Given the description of an element on the screen output the (x, y) to click on. 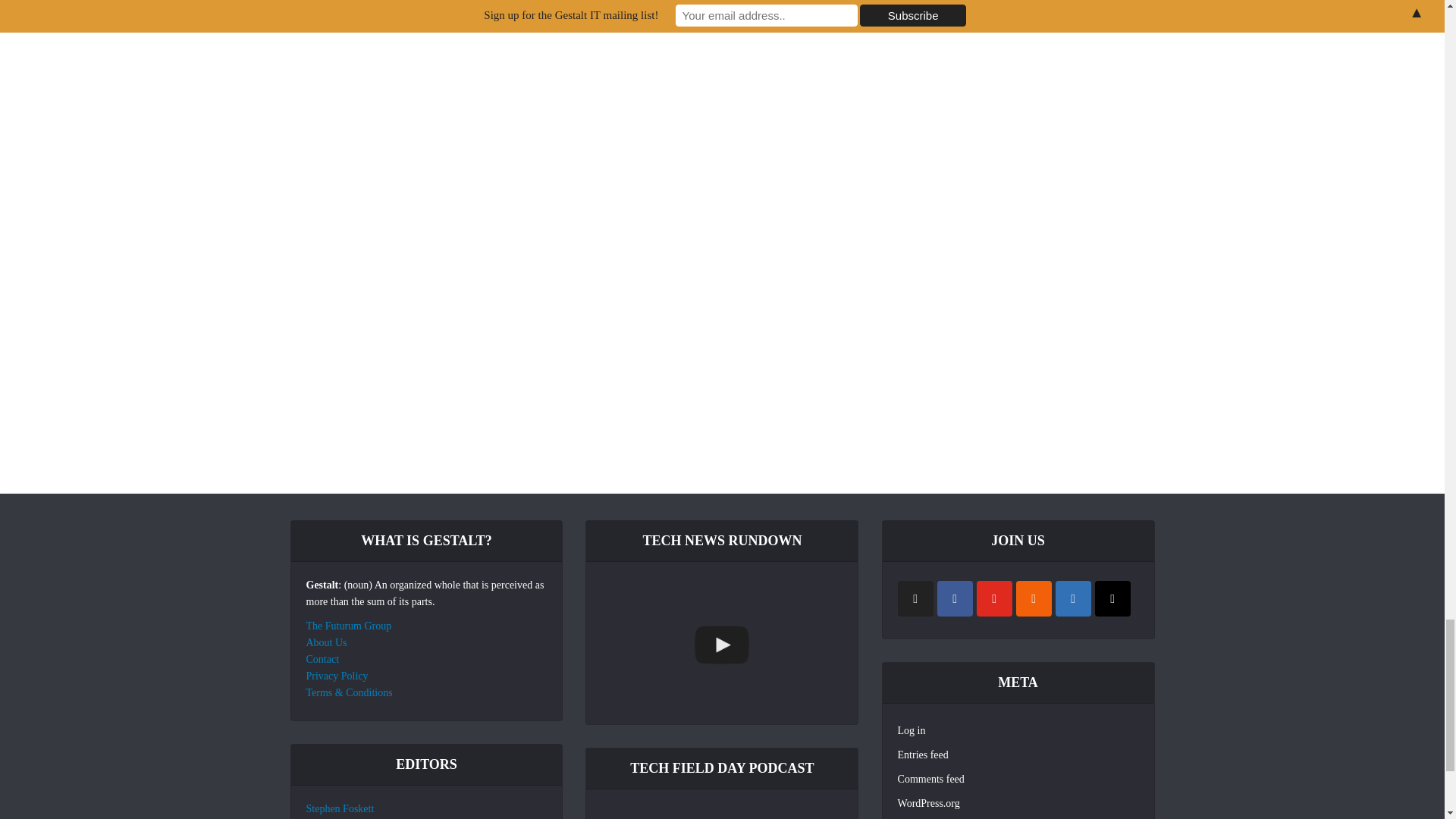
Linkedin (1072, 598)
YouTube (993, 598)
Mail (1112, 598)
Facebook (954, 598)
RSS (1033, 598)
